Given the description of an element on the screen output the (x, y) to click on. 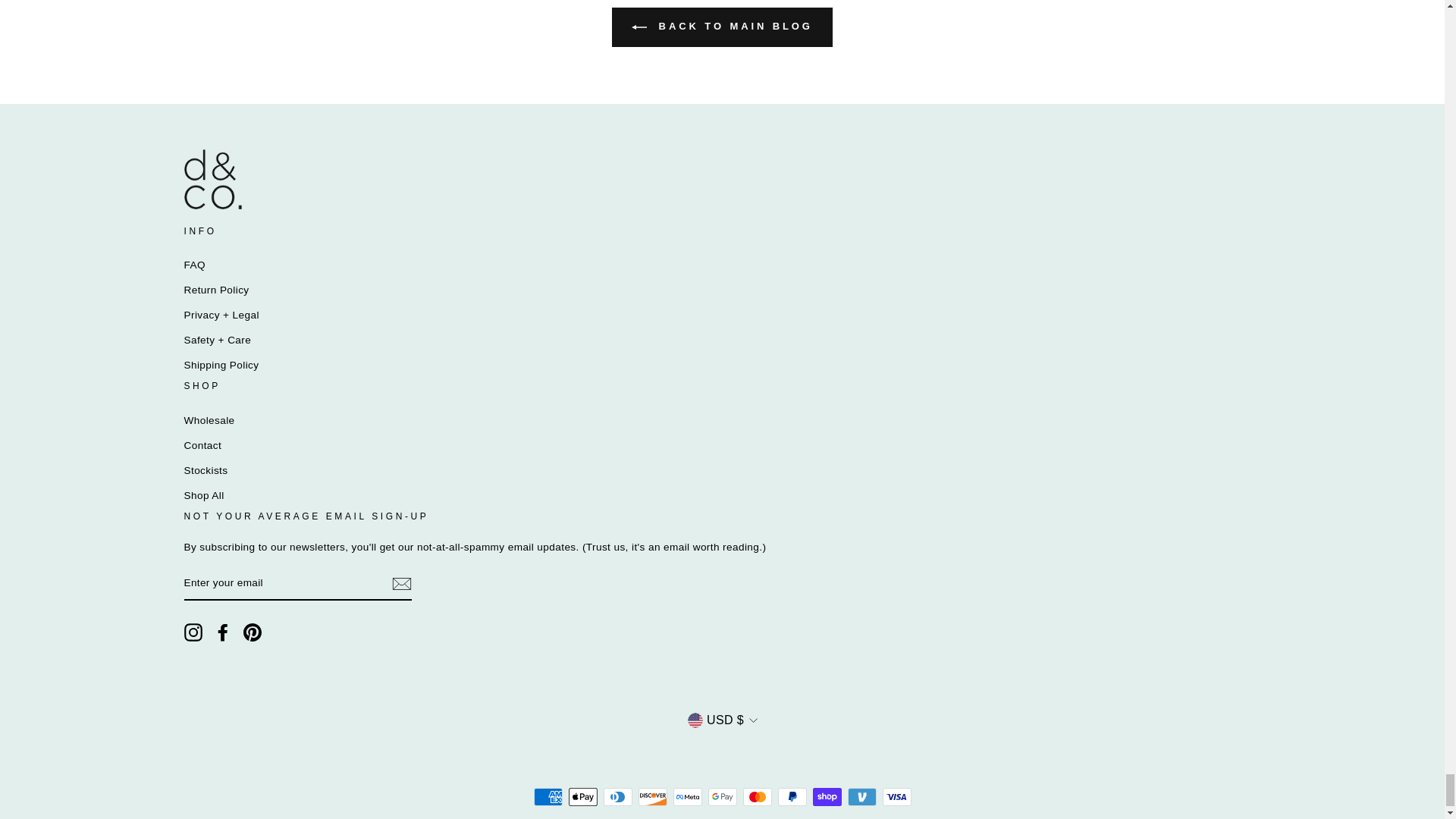
Diners Club (617, 796)
American Express (548, 796)
Discover (652, 796)
Apple Pay (582, 796)
